Given the description of an element on the screen output the (x, y) to click on. 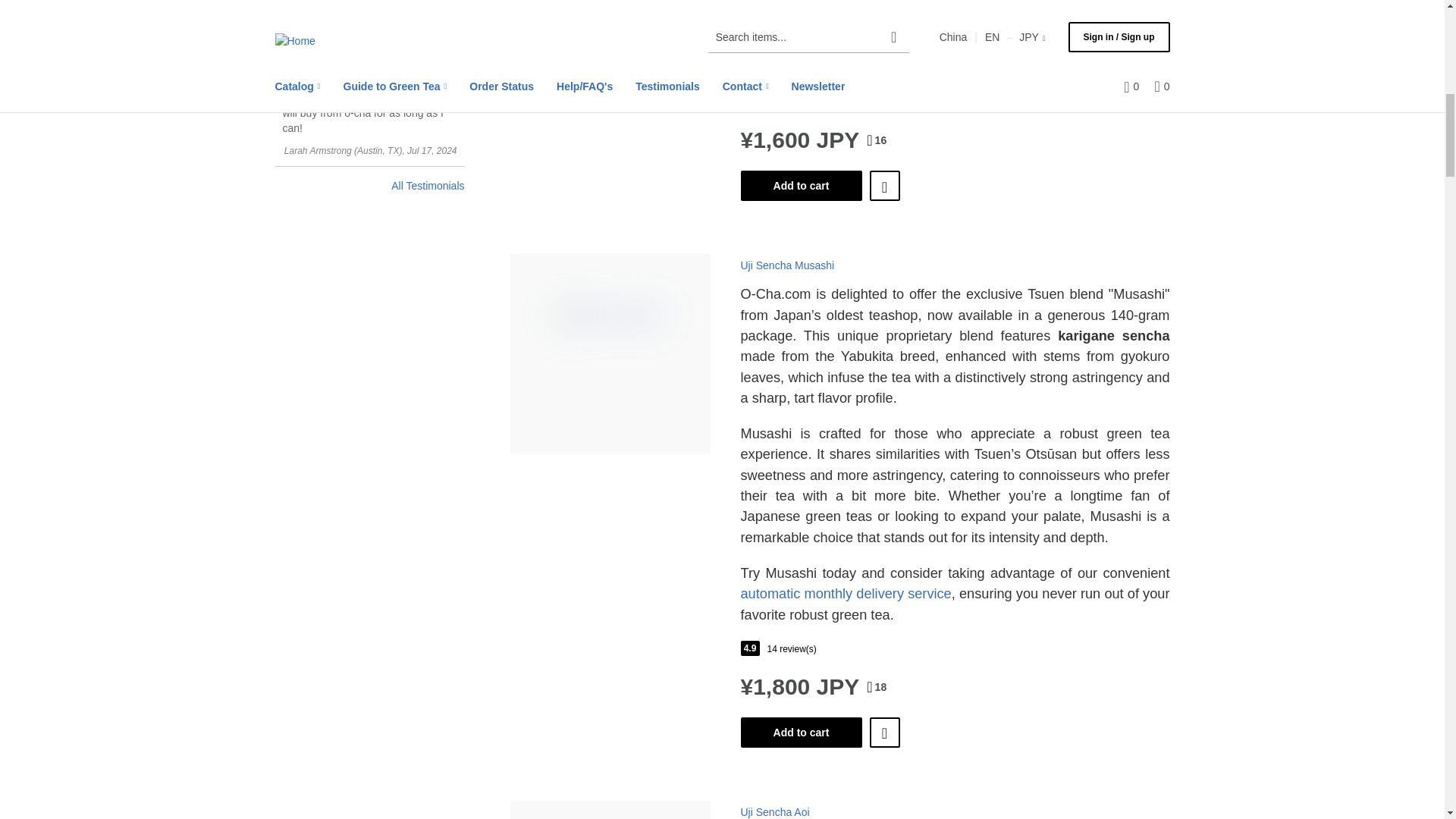
Buy this product and earn up to 16 reward points. (876, 140)
Buy this product and earn up to 18 reward points. (876, 686)
